Given the description of an element on the screen output the (x, y) to click on. 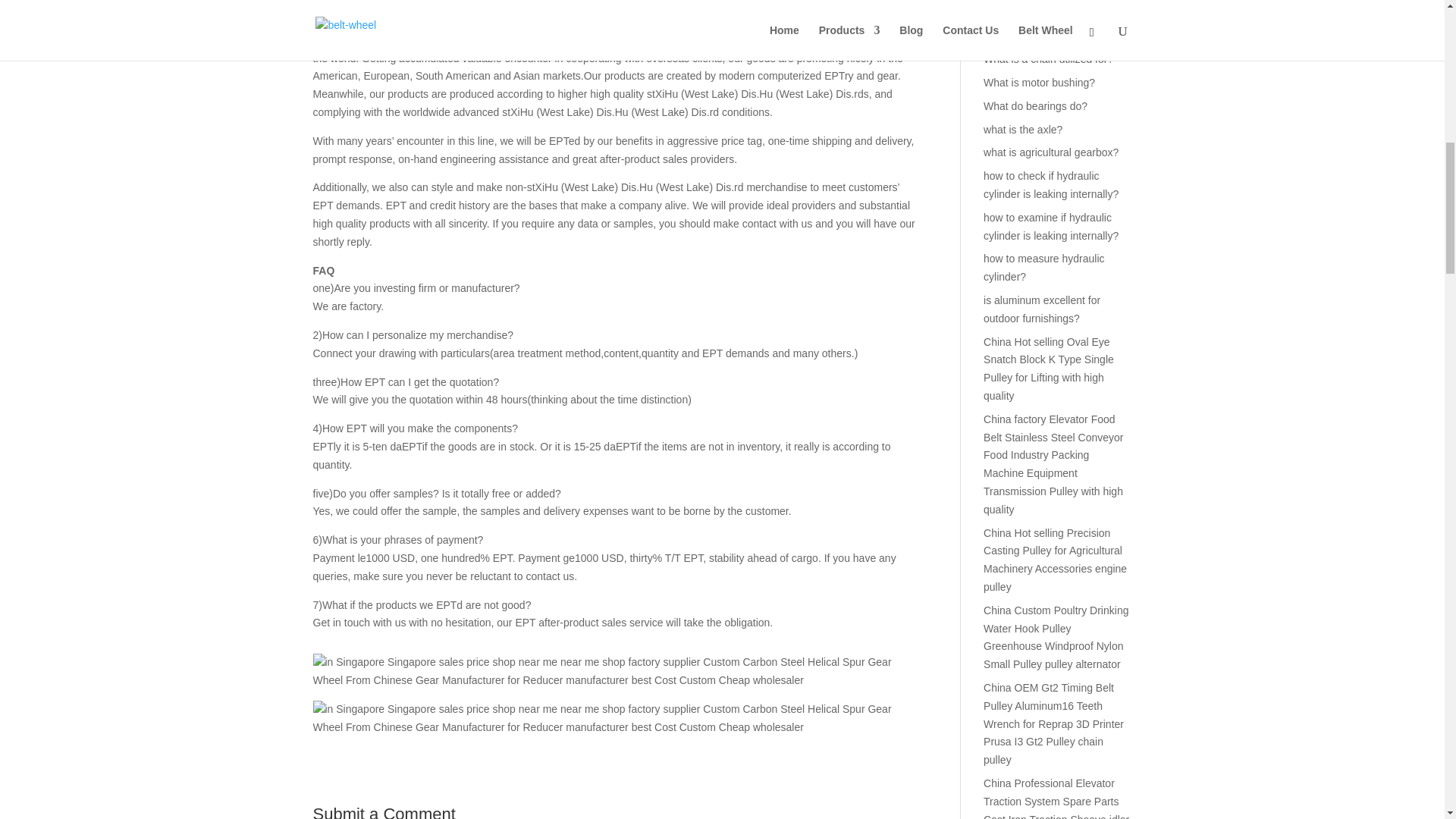
What is motor bushing? (1039, 82)
What do bearings do? (1035, 105)
what is the axle? (1023, 129)
How do I know if my CV joint requirements replacing? (1051, 27)
What is a chain utilized for? (1048, 59)
